Given the description of an element on the screen output the (x, y) to click on. 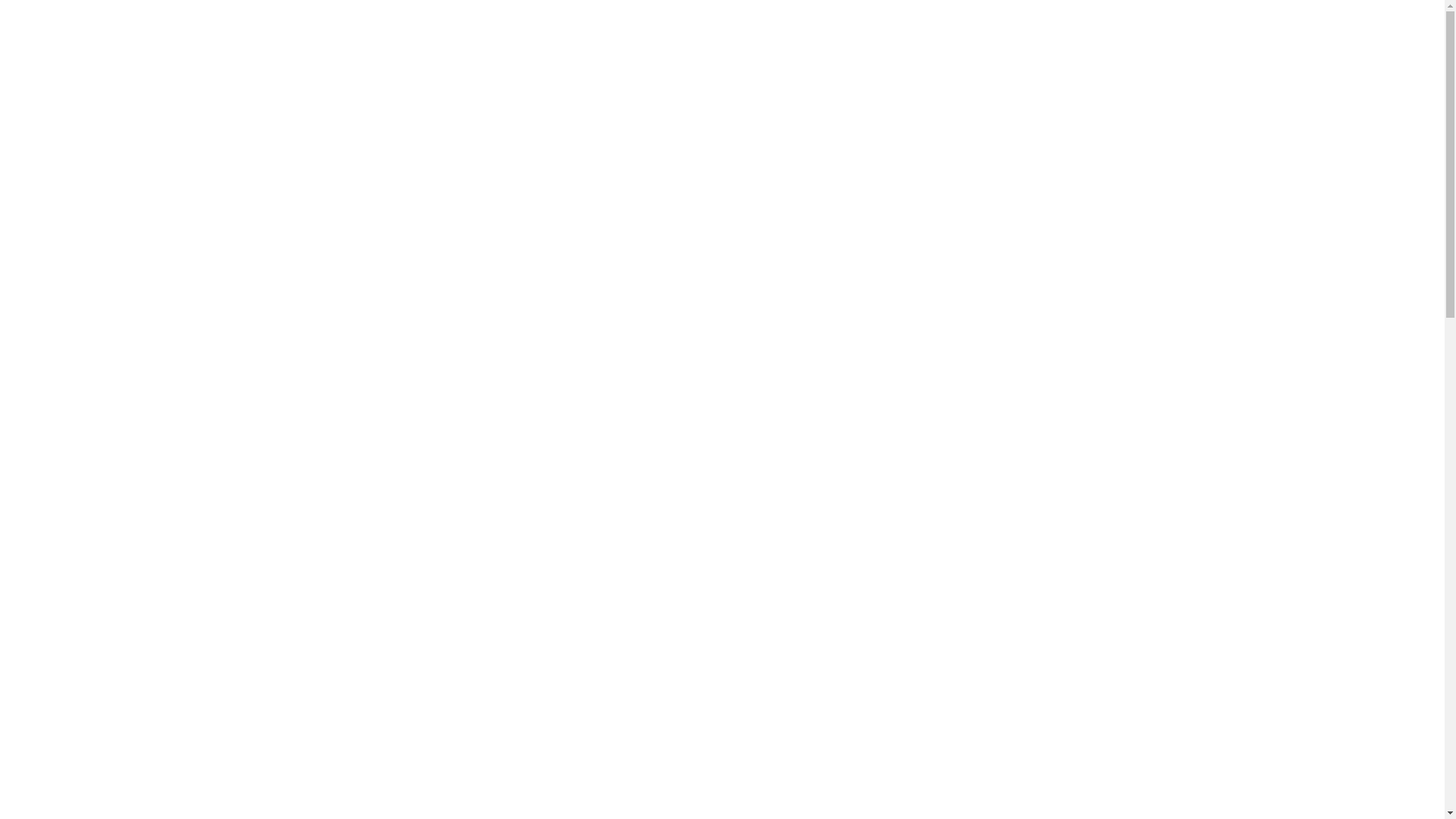
CONTACT US Element type: text (324, 40)
FREE QUOTE Element type: text (425, 39)
(08) 9358 5288 Element type: text (1364, 68)
ABOUT US Element type: text (45, 40)
Lally Plumbing Element type: text (722, 9)
EXPERIENCE Element type: text (233, 40)
OUR SERVICES Element type: text (135, 40)
